Given the description of an element on the screen output the (x, y) to click on. 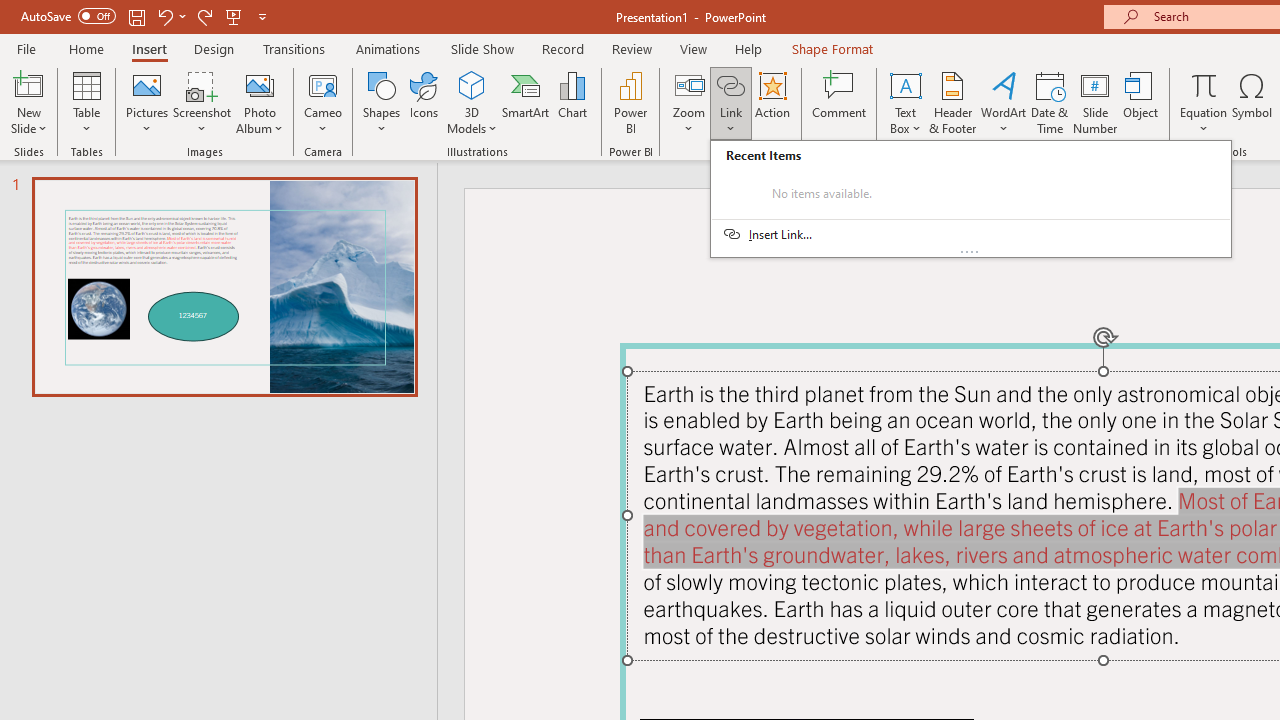
3D Models (472, 84)
Link (731, 84)
WordArt (1004, 102)
